Given the description of an element on the screen output the (x, y) to click on. 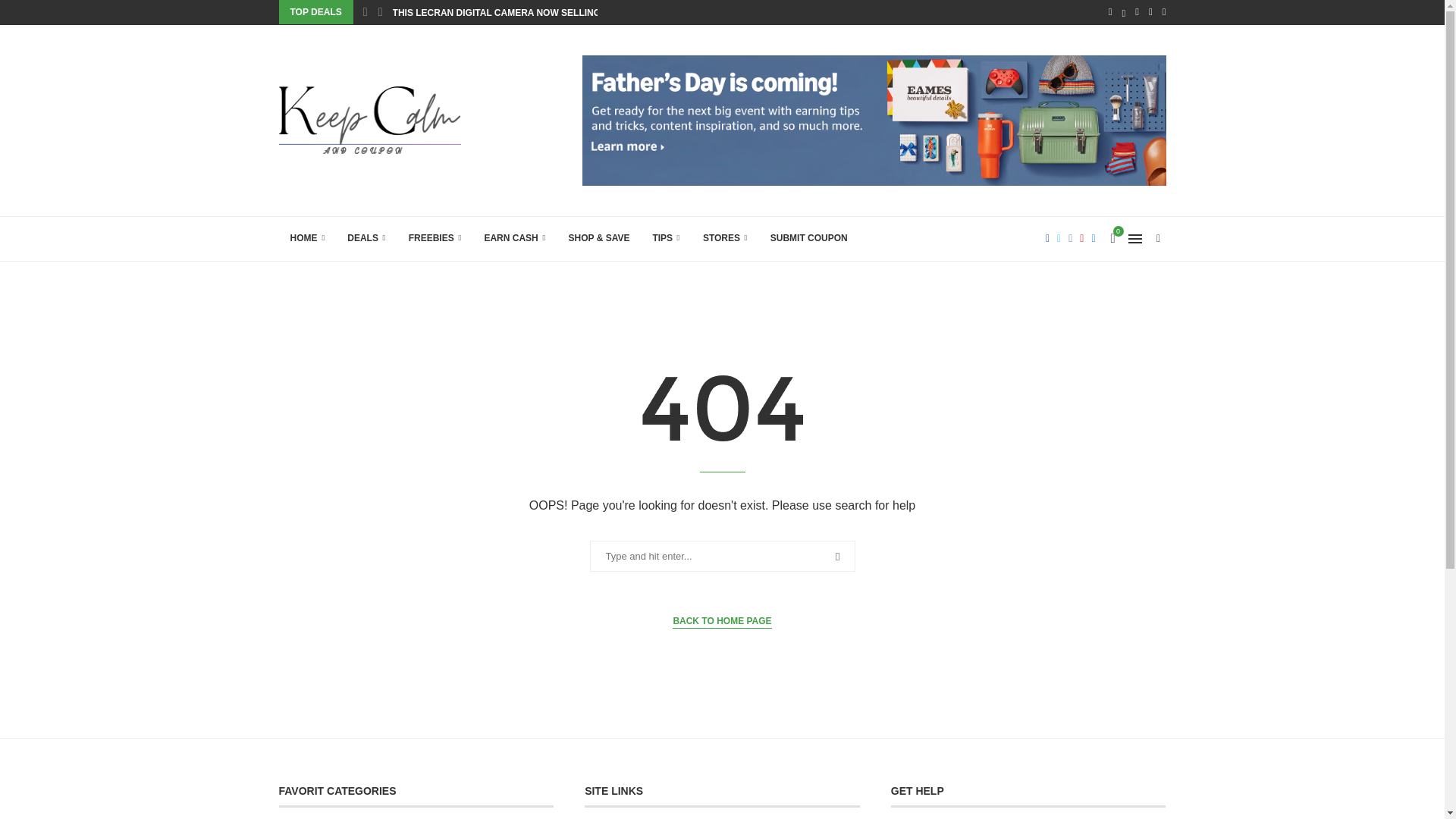
THIS LECRAN DIGITAL CAMERA NOW SELLING FOR ONLY... (524, 12)
DEALS (366, 238)
HOME (307, 238)
